Given the description of an element on the screen output the (x, y) to click on. 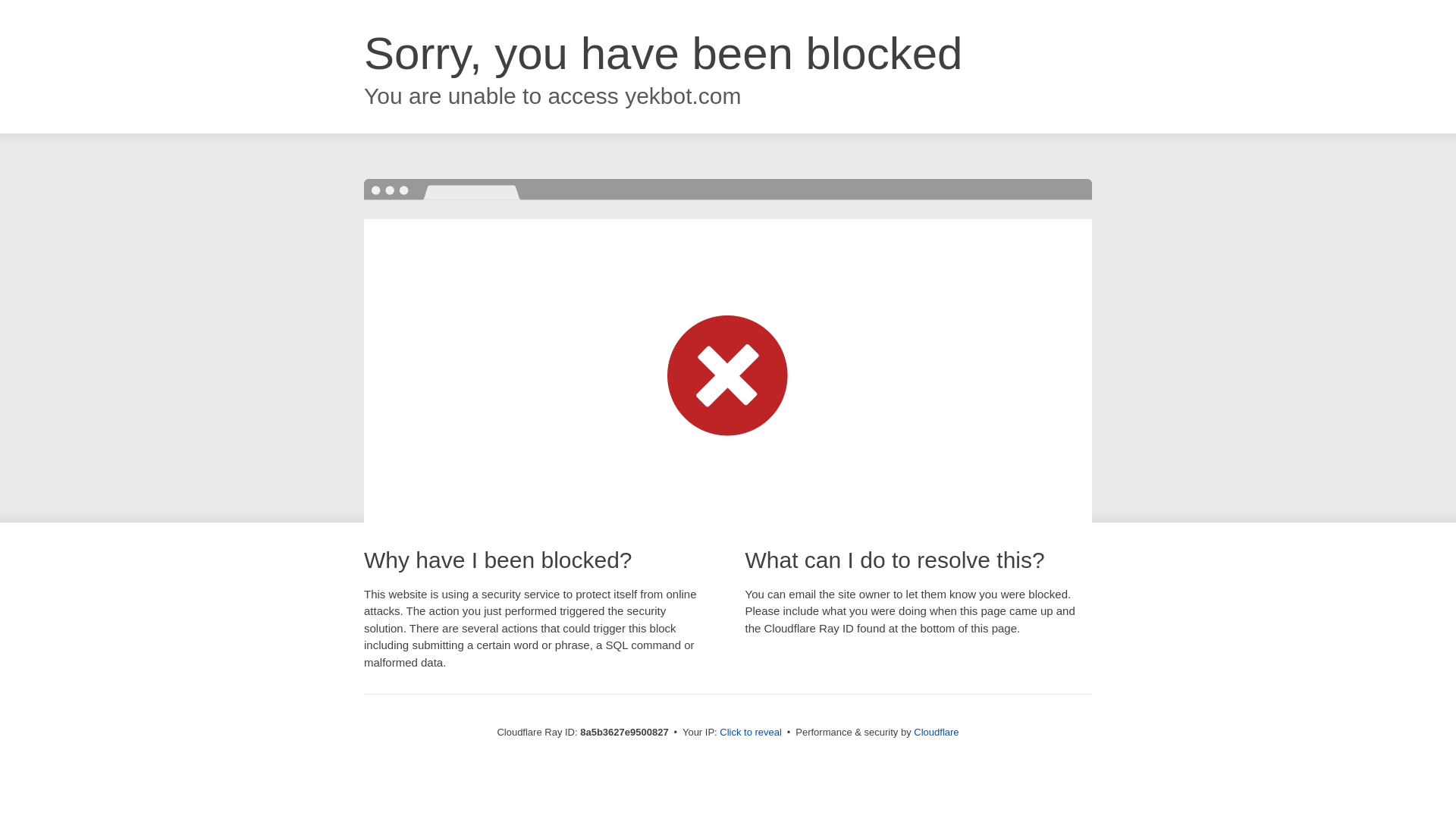
Click to reveal (750, 732)
Cloudflare (936, 731)
